Given the description of an element on the screen output the (x, y) to click on. 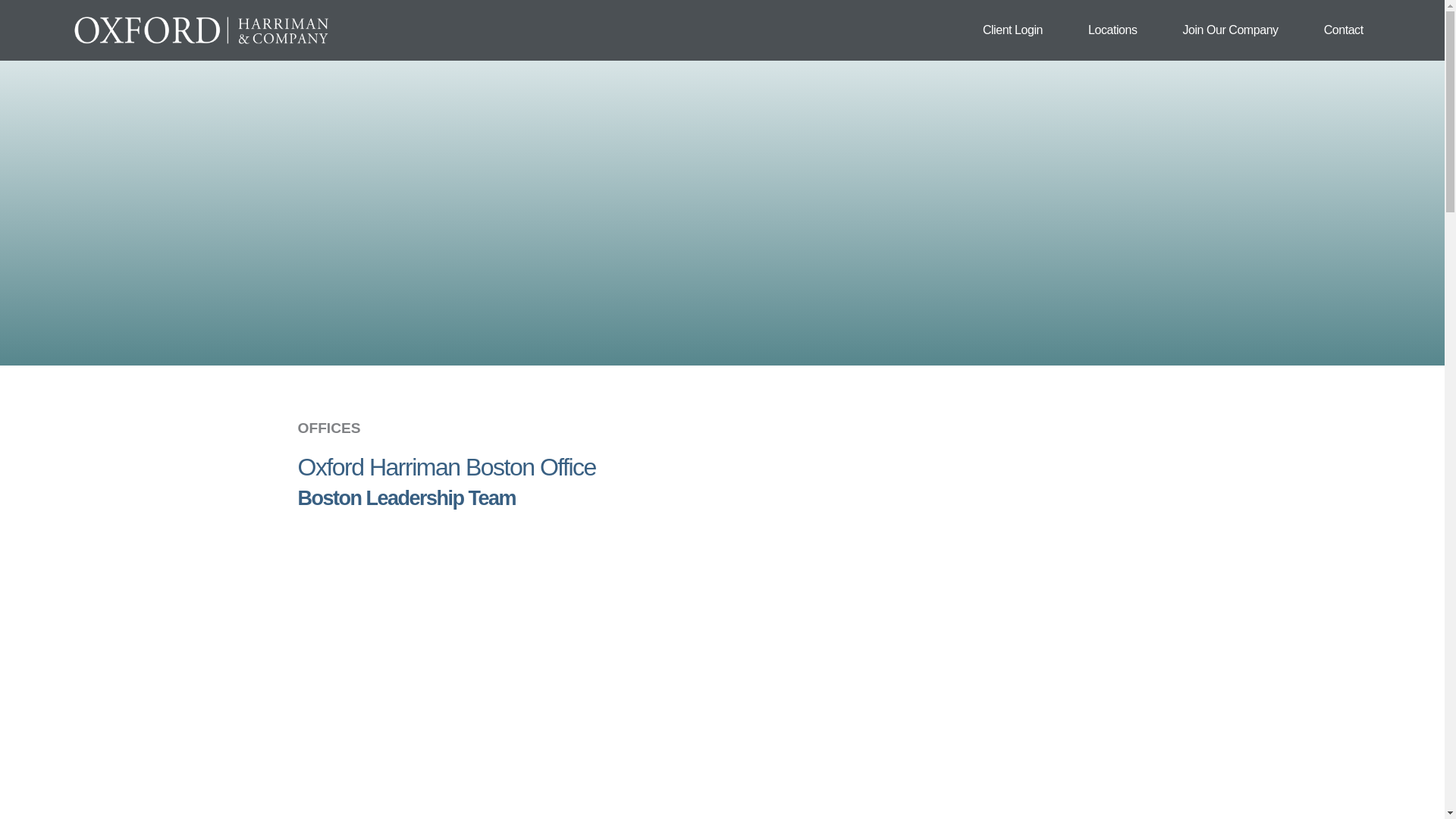
Contact (1343, 30)
Client Login (1012, 30)
Join Our Company (1229, 30)
Locations (1112, 30)
